Given the description of an element on the screen output the (x, y) to click on. 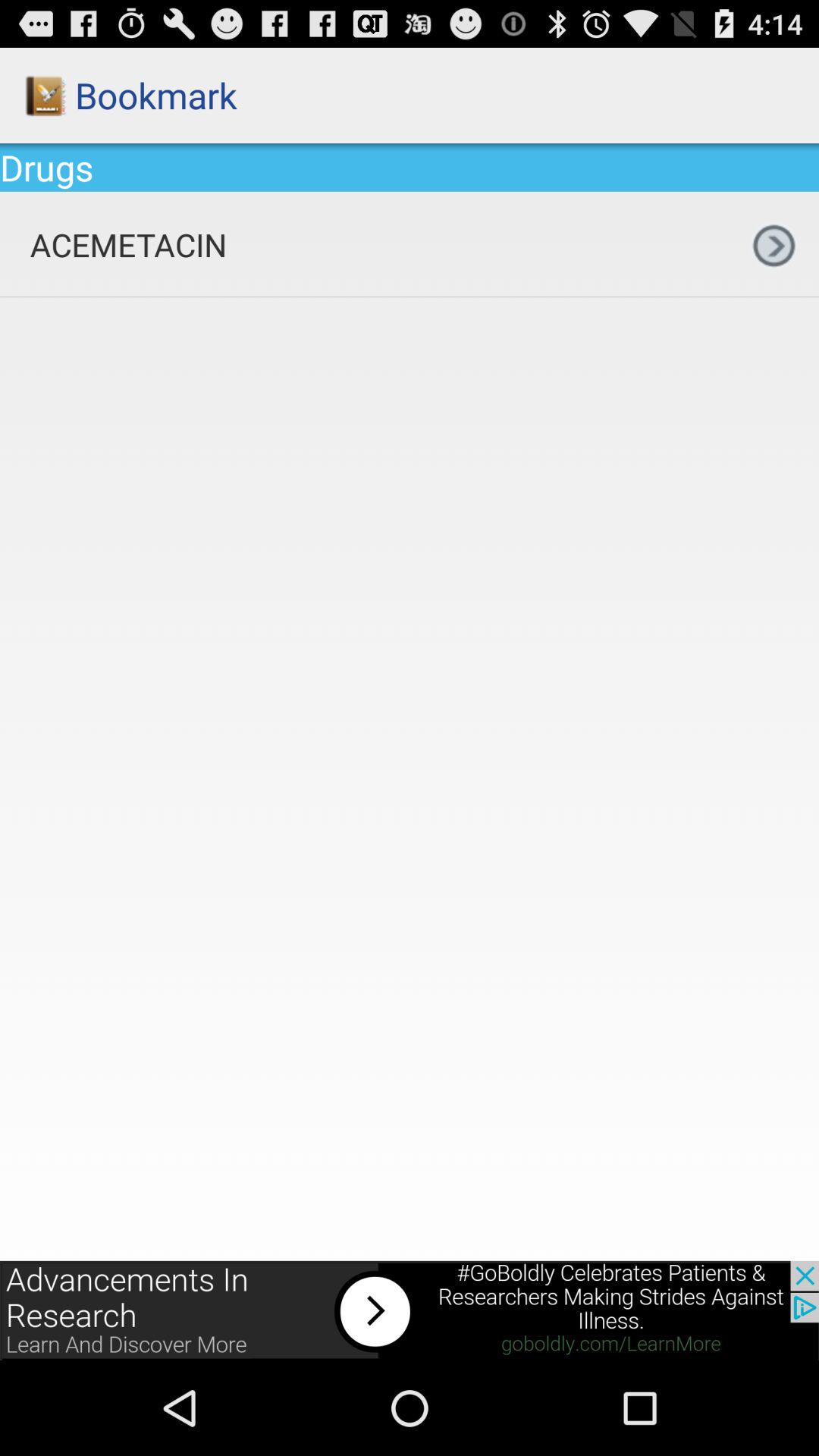
display advertisement (409, 1310)
